Given the description of an element on the screen output the (x, y) to click on. 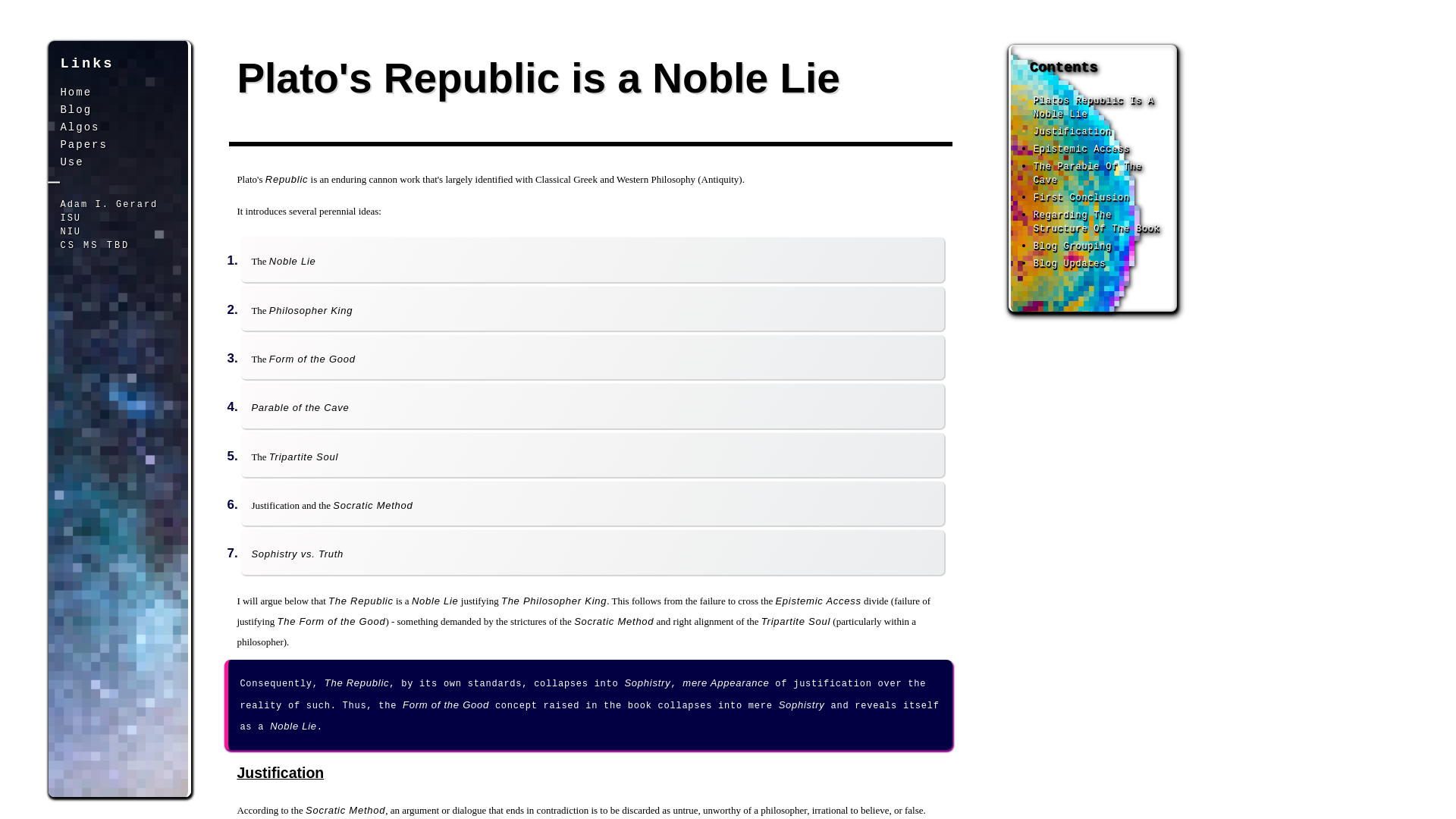
First Conclusion (1081, 197)
Platos Republic Is A Noble Lie (1093, 107)
Regarding The Structure Of The Book (1096, 221)
Home (75, 92)
Algos (79, 127)
Use (70, 162)
The Parable Of The Cave (1087, 173)
Blog (75, 110)
Justification (1072, 131)
ISU (70, 217)
Blog Updates (1069, 263)
Adam I. Gerard (108, 204)
Epistemic Access (1081, 149)
Blog Grouping (1072, 245)
NIU (70, 231)
